Given the description of an element on the screen output the (x, y) to click on. 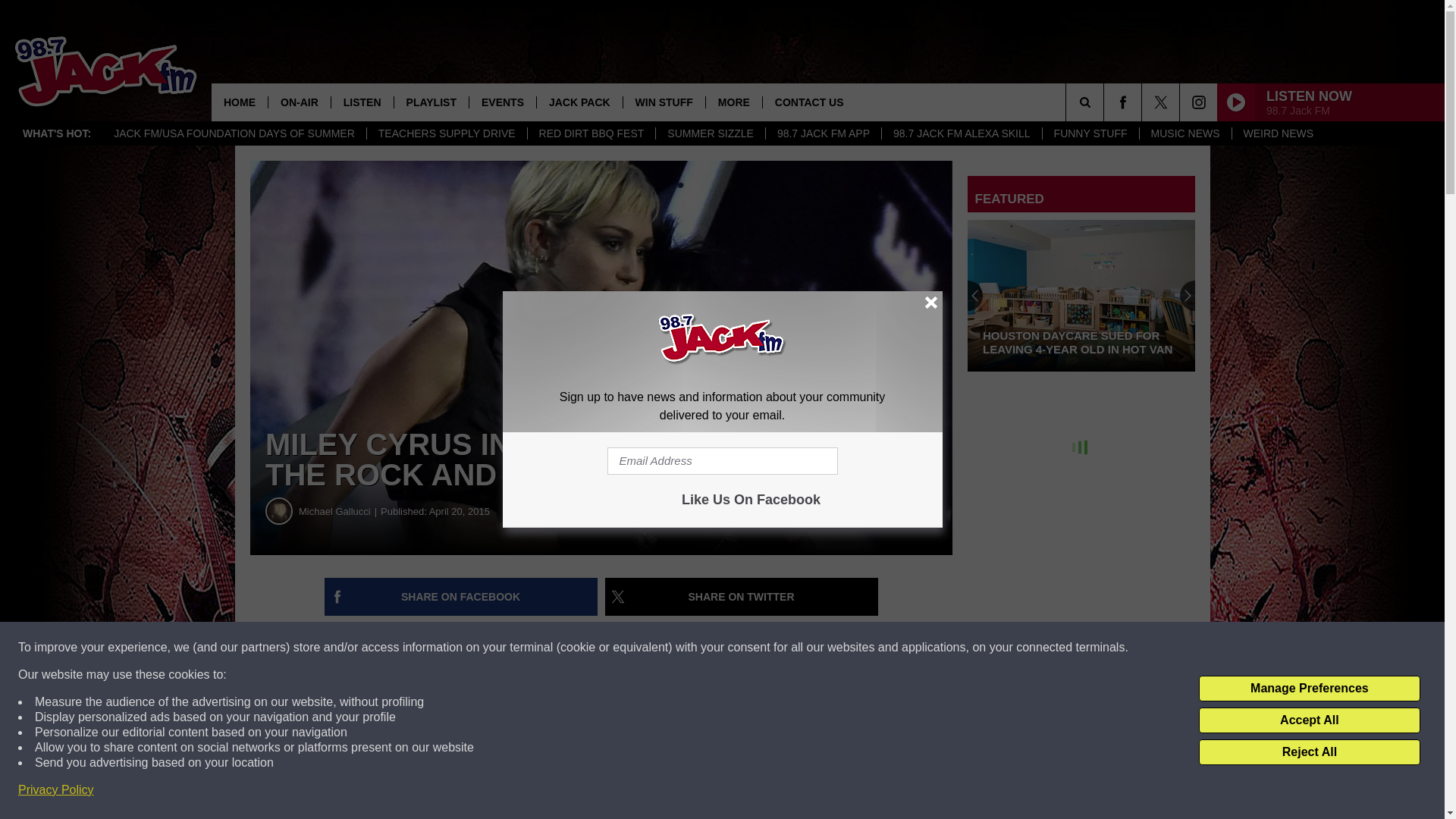
Reject All (1309, 751)
SEARCH (1106, 102)
JACK PACK (579, 102)
SUMMER SIZZLE (710, 133)
HOME (239, 102)
Share on Facebook (460, 596)
Share on Twitter (741, 596)
EVENTS (501, 102)
LISTEN (361, 102)
Manage Preferences (1309, 688)
WHAT'S HOT: (56, 133)
WIN STUFF (663, 102)
Accept All (1309, 720)
WEIRD NEWS (1277, 133)
RED DIRT BBQ FEST (591, 133)
